Given the description of an element on the screen output the (x, y) to click on. 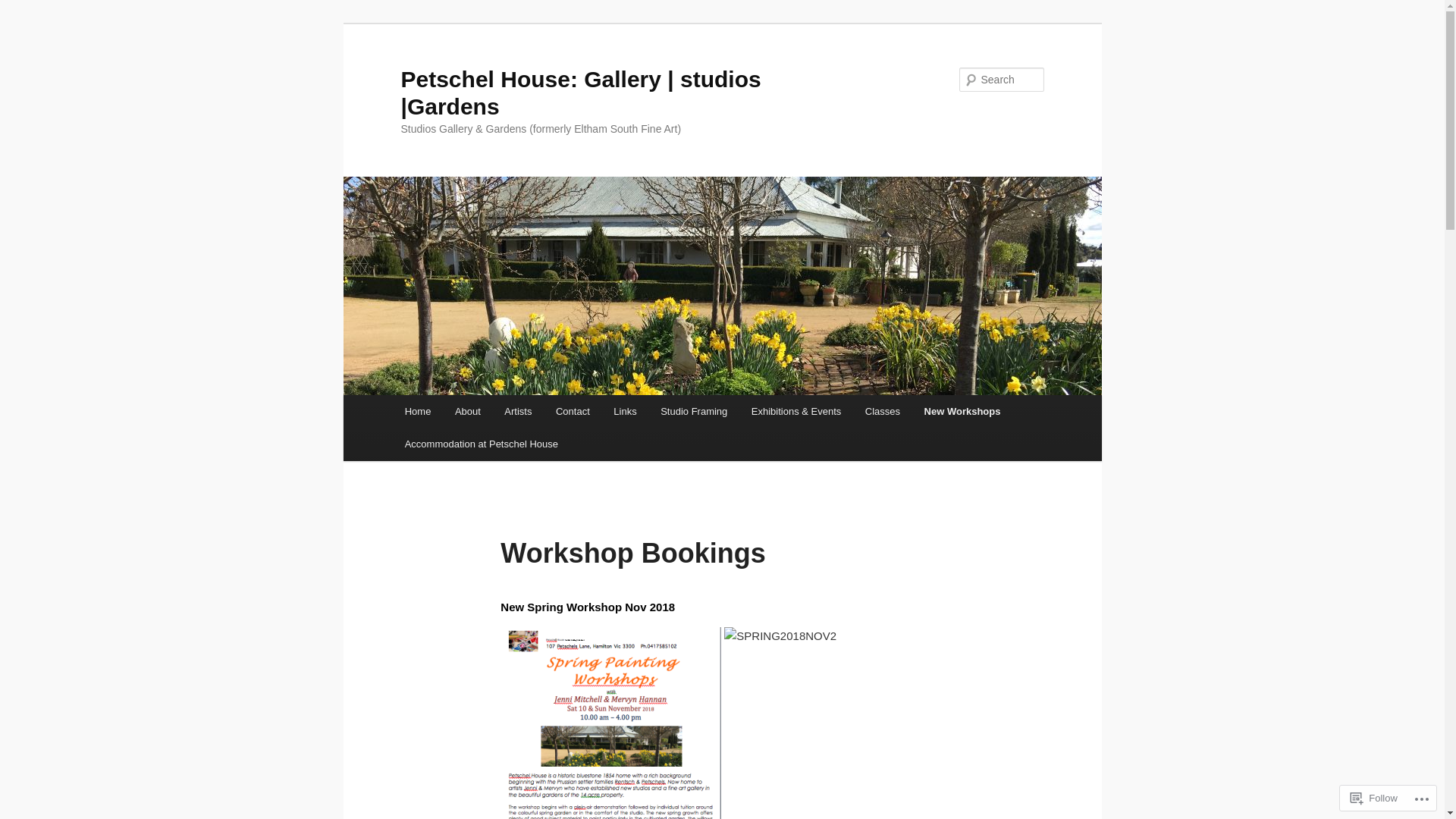
Classes Element type: text (882, 411)
Skip to primary content Element type: text (22, 22)
Home Element type: text (417, 411)
About Element type: text (467, 411)
Links Element type: text (625, 411)
Exhibitions & Events Element type: text (796, 411)
Follow Element type: text (1373, 797)
Artists Element type: text (518, 411)
SPRING2018NOV2 Element type: hover (780, 636)
New Workshops Element type: text (962, 411)
Accommodation at Petschel House Element type: text (481, 443)
Studio Framing Element type: text (693, 411)
Contact Element type: text (572, 411)
Search Element type: text (24, 8)
Petschel House: Gallery | studios |Gardens Element type: text (580, 92)
